Given the description of an element on the screen output the (x, y) to click on. 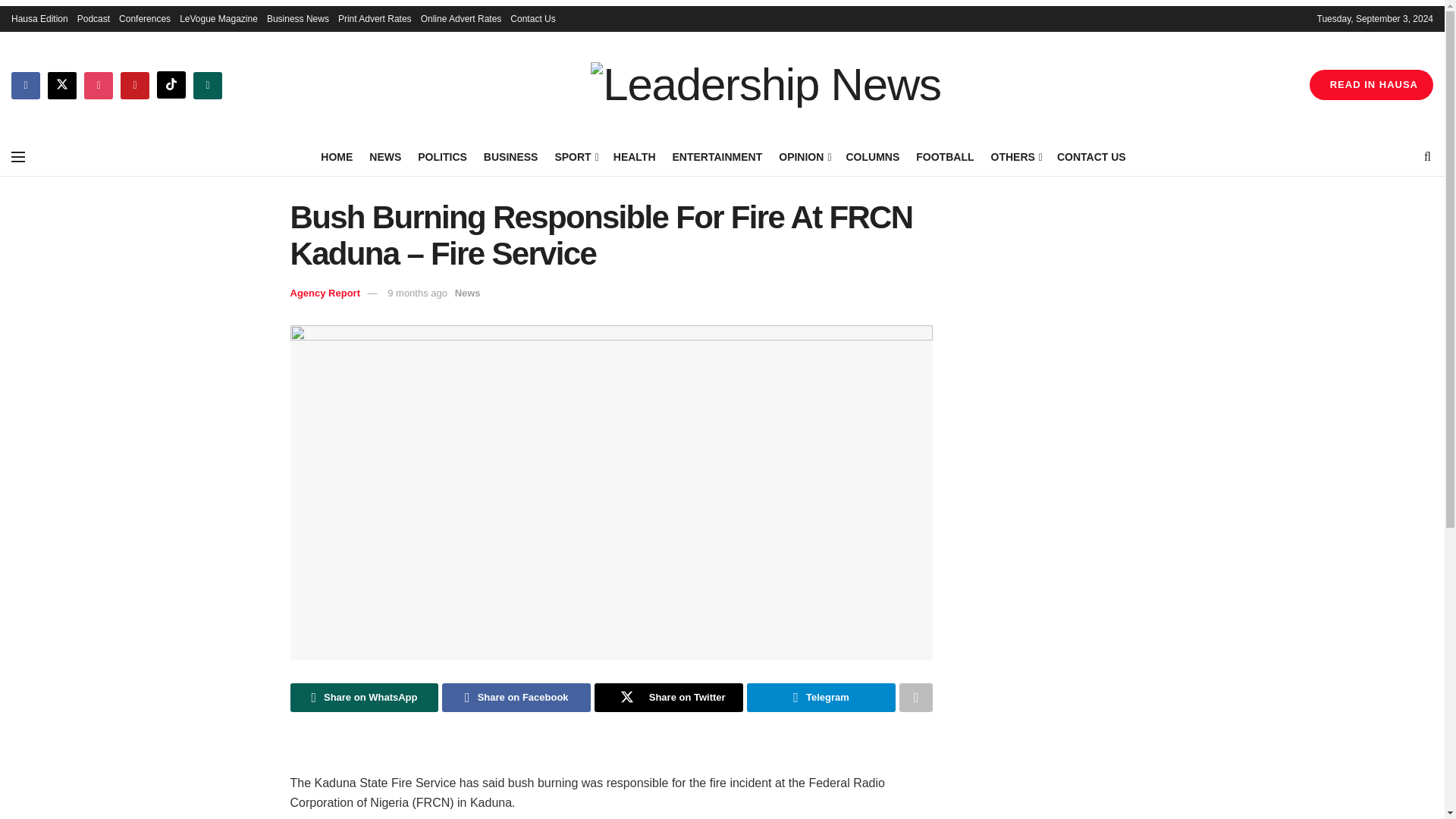
Business News (297, 18)
FOOTBALL (944, 156)
Podcast (93, 18)
SPORT (574, 156)
Online Advert Rates (461, 18)
BUSINESS (510, 156)
OTHERS (1014, 156)
POLITICS (442, 156)
Hausa Edition (39, 18)
HOME (336, 156)
